Given the description of an element on the screen output the (x, y) to click on. 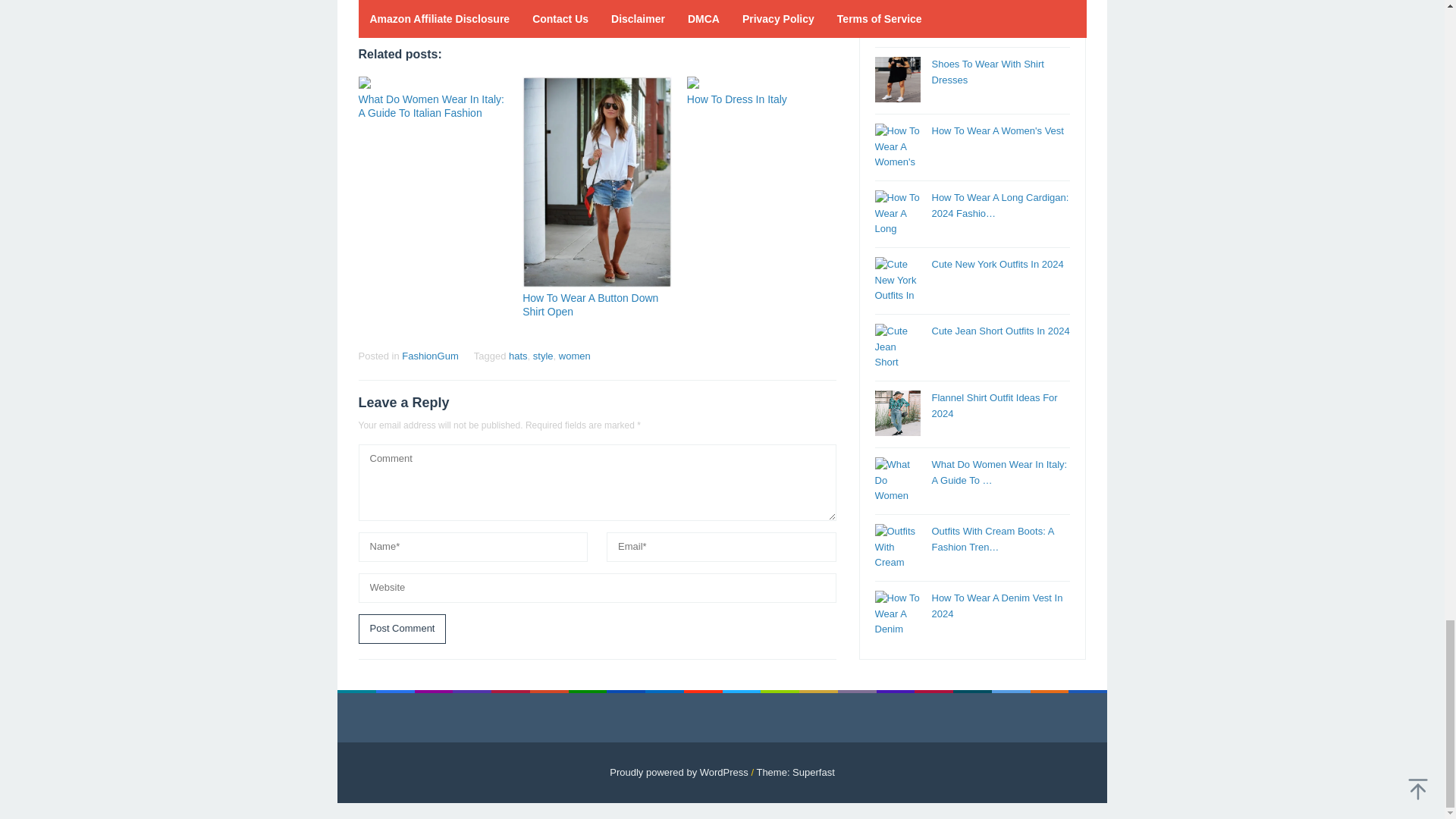
hats (517, 355)
Permalink to: How To Dress In Italy (737, 99)
Telegram Share (449, 9)
Pin this (421, 9)
What Do Women Wear In Italy: A Guide To Italian Fashion (430, 105)
Post Comment (401, 628)
Permalink to: How To Dress In Italy (761, 82)
How To Wear A Button Down Shirt Open (590, 304)
style (542, 355)
Post Comment (401, 628)
Share this (369, 9)
Tweet this (396, 9)
Permalink to: How To Wear A Button Down Shirt Open (590, 304)
How To Dress In Italy (737, 99)
